Given the description of an element on the screen output the (x, y) to click on. 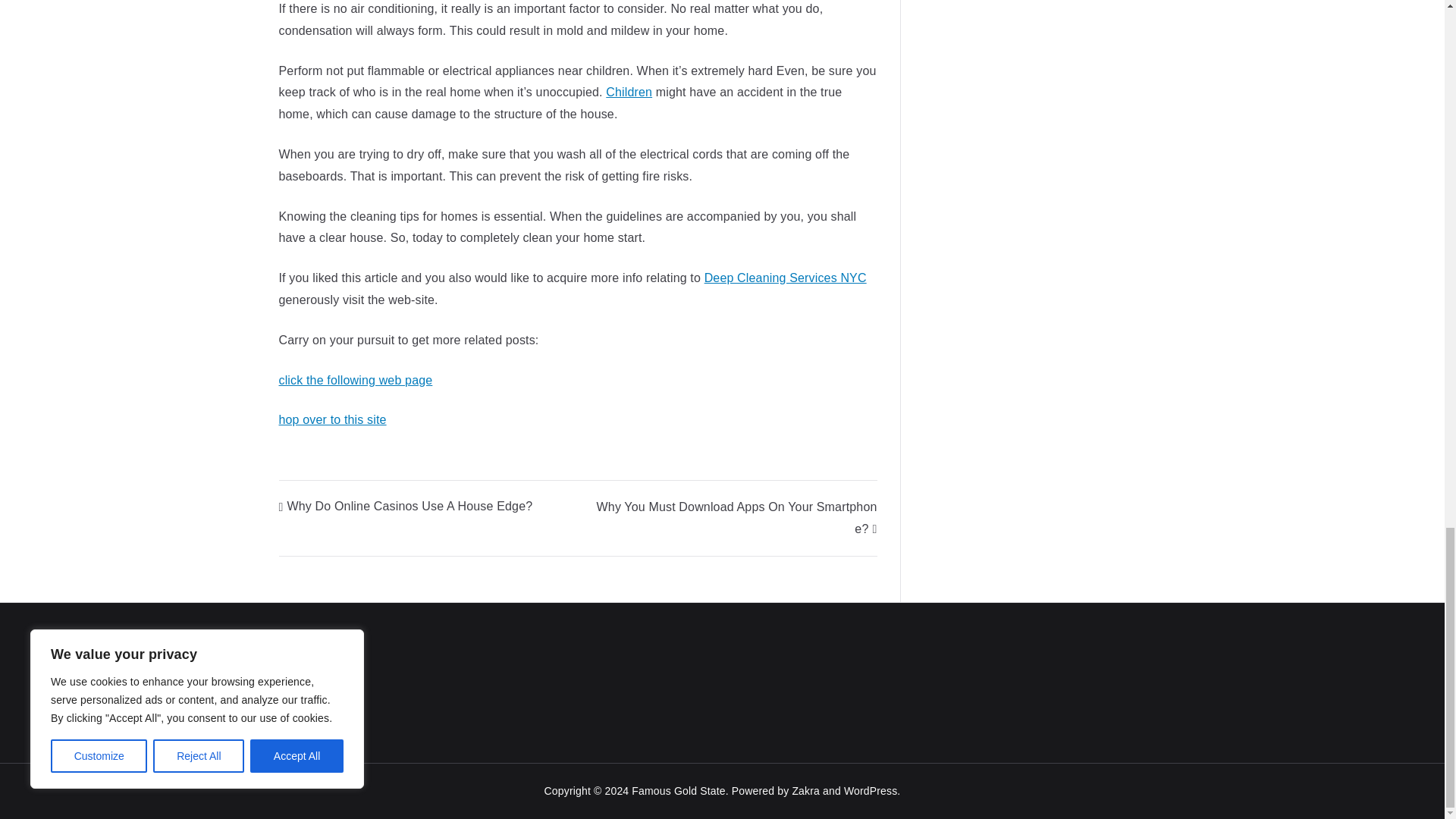
WordPress (870, 790)
Deep Cleaning Services NYC (785, 277)
Why Do Online Casinos Use A House Edge? (405, 505)
Children (628, 91)
click the following web page (355, 379)
Zakra (805, 790)
Famous Gold State (678, 790)
hop over to this site (333, 419)
Why You Must Download Apps On Your Smartphone? (736, 517)
